Given the description of an element on the screen output the (x, y) to click on. 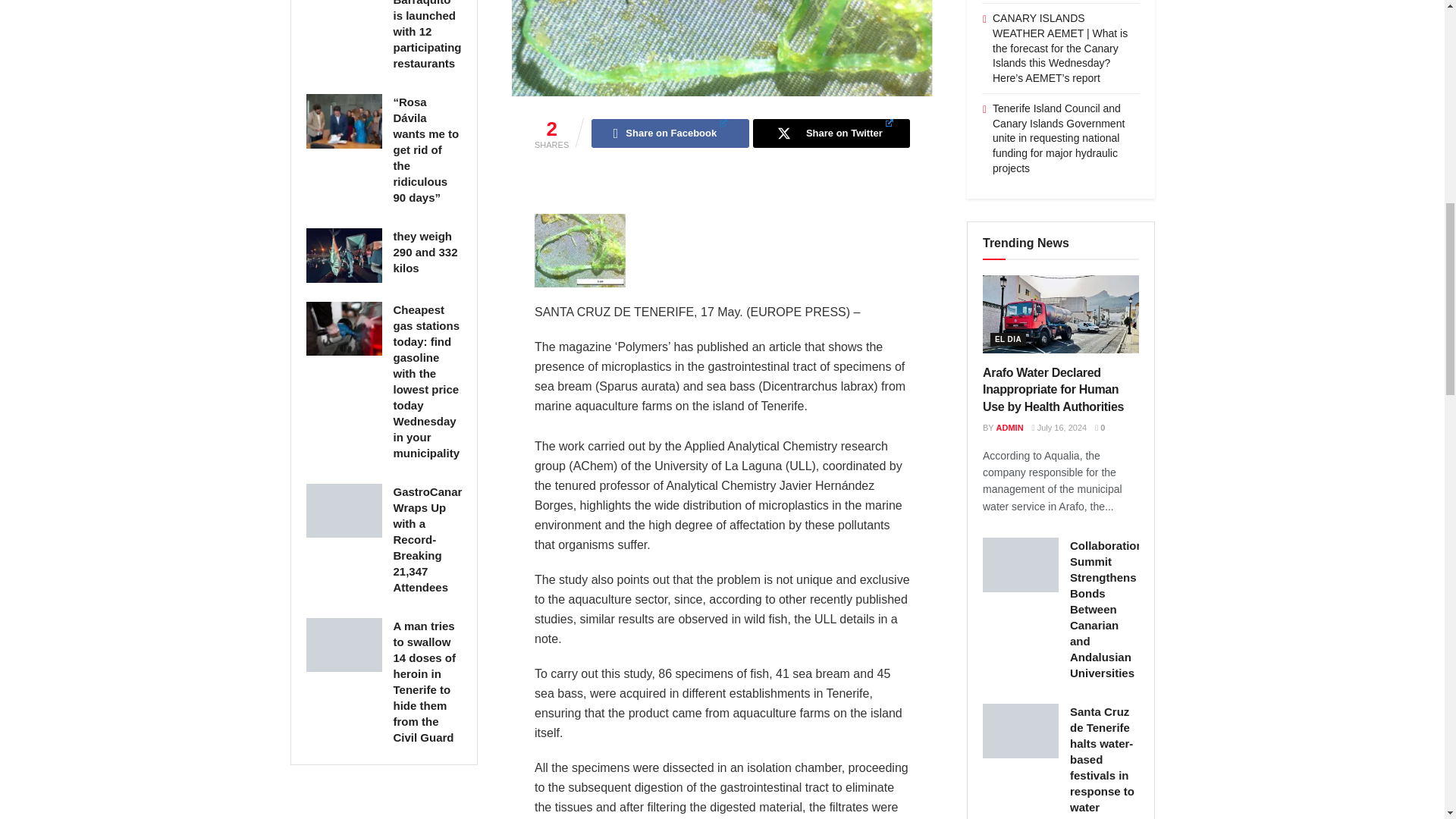
Share on Facebook (669, 133)
Share on Twitter (831, 133)
